Given the description of an element on the screen output the (x, y) to click on. 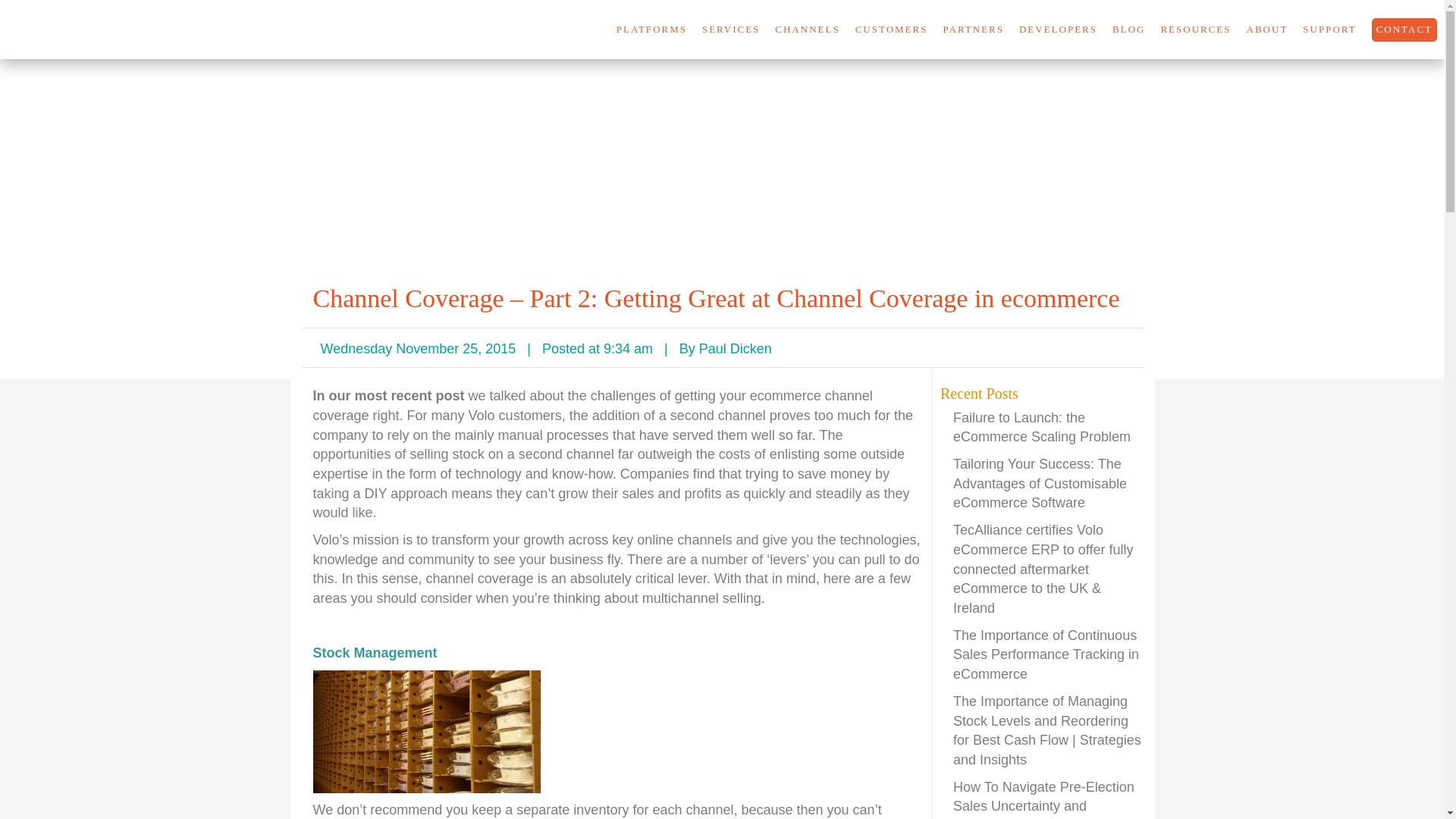
RESOURCES (1195, 29)
In our most recent post (390, 395)
ABOUT (1267, 29)
CHANNELS (807, 29)
PARTNERS (973, 29)
Failure to Launch: the eCommerce Scaling Problem (1042, 427)
Tweet this! (1039, 348)
CUSTOMERS (892, 29)
DEVELOPERS (1058, 29)
BLOG (1128, 29)
Share on LinkedIn (1077, 348)
SERVICES (730, 29)
Share on Facebook. (1114, 348)
